Given the description of an element on the screen output the (x, y) to click on. 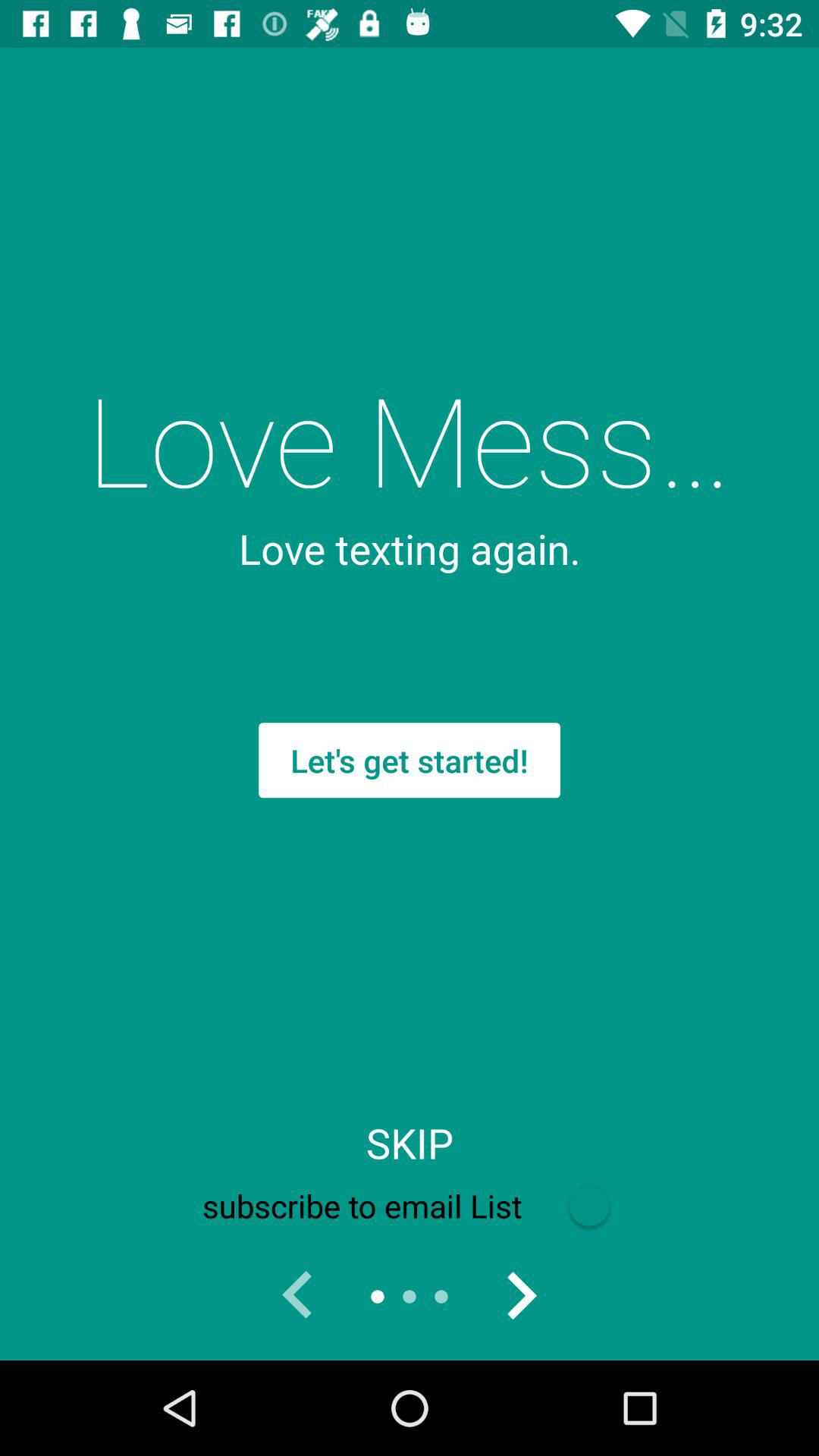
turn on the item above subscribe to email (409, 1143)
